Given the description of an element on the screen output the (x, y) to click on. 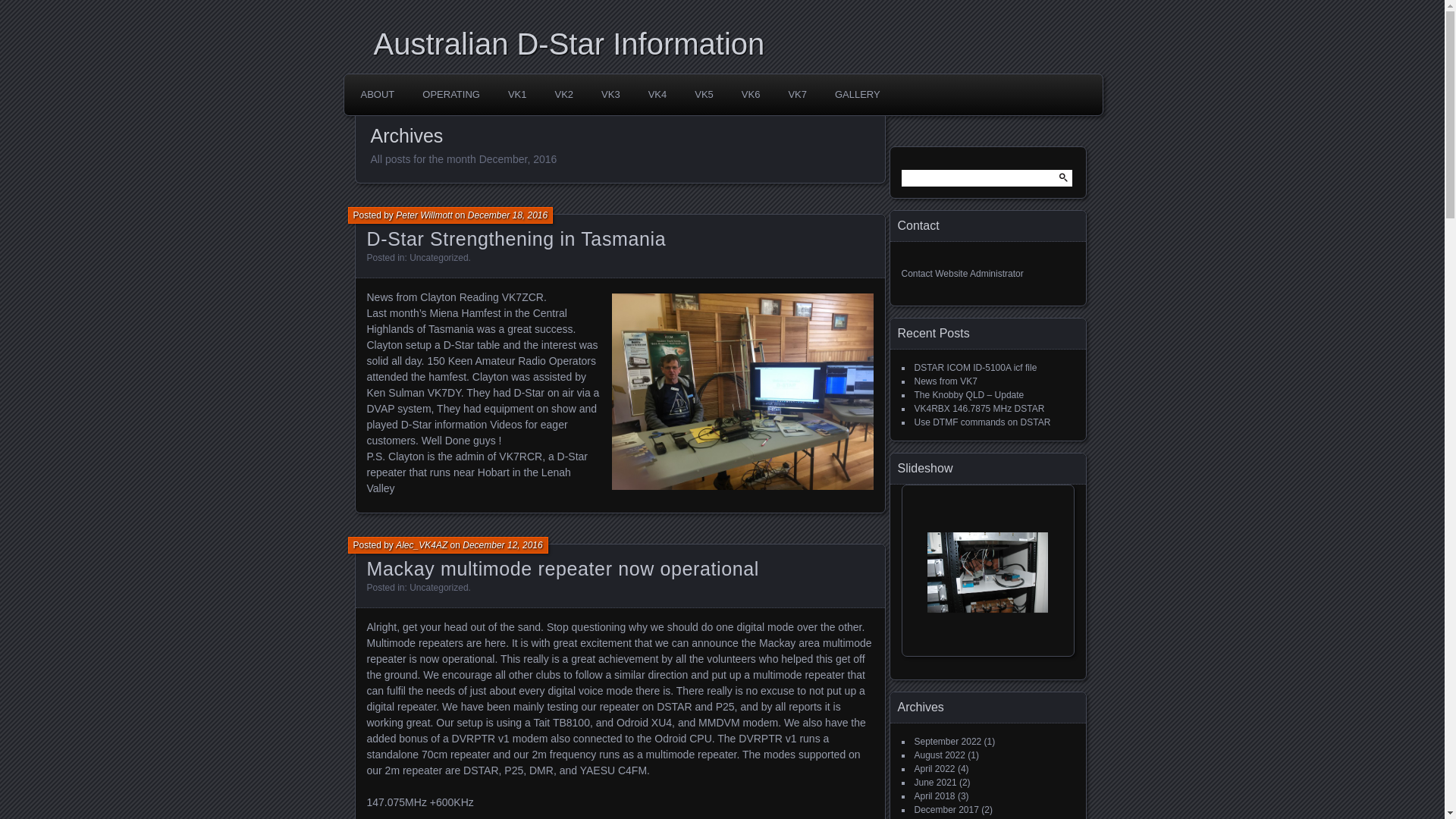
Australian D-Star Information Element type: text (727, 44)
December 12, 2016 Element type: text (502, 544)
DSTAR ICOM ID-5100A icf file Element type: text (975, 367)
September 2022 Element type: text (948, 741)
ABOUT Element type: text (376, 94)
VK1 Element type: text (517, 94)
April 2022 Element type: text (934, 768)
VK6 Element type: text (750, 94)
Contact Website Administrator Element type: text (961, 273)
D-Star Strengthening in Tasmania Element type: text (516, 238)
December 18, 2016 Element type: text (507, 215)
VK2 Element type: text (563, 94)
Use DTMF commands on DSTAR Element type: text (982, 422)
December 2017 Element type: text (946, 809)
VK7 Element type: text (797, 94)
June 2021 Element type: text (935, 782)
GALLERY Element type: text (857, 94)
Uncategorized Element type: text (438, 257)
Search Element type: text (21, 7)
VK4RBX 146.7875 MHz DSTAR Element type: text (979, 408)
Mackay multimode repeater now operational Element type: text (563, 568)
Peter Willmott Element type: text (423, 215)
VK3 Element type: text (610, 94)
April 2018 Element type: text (934, 795)
News from VK7 Element type: text (945, 381)
August 2022 Element type: text (939, 754)
VK5 Element type: text (703, 94)
Alec_VK4AZ Element type: text (421, 544)
VK4 Element type: text (657, 94)
Uncategorized Element type: text (438, 587)
OPERATING Element type: text (451, 94)
